Given the description of an element on the screen output the (x, y) to click on. 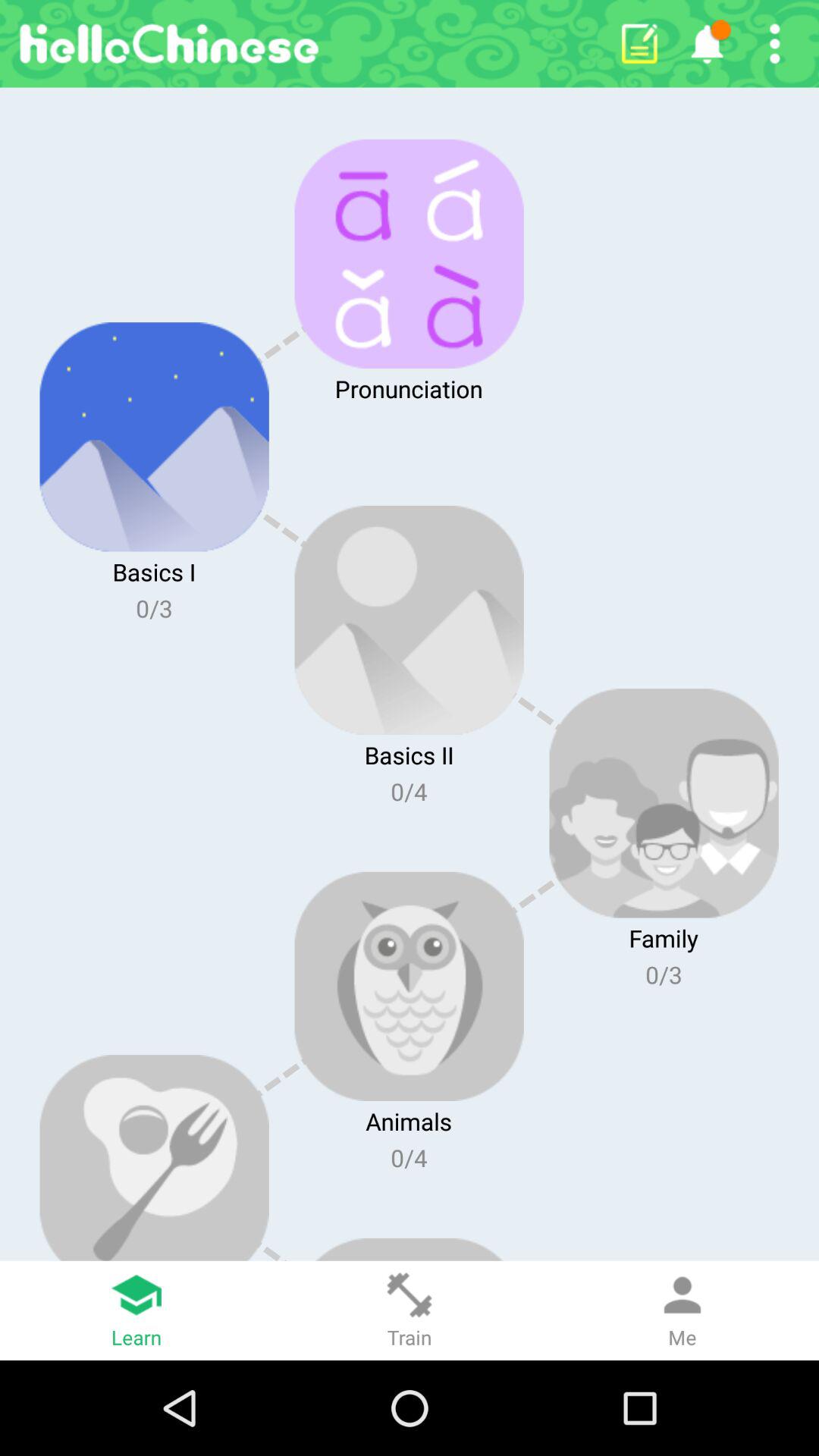
options menu (774, 43)
